Given the description of an element on the screen output the (x, y) to click on. 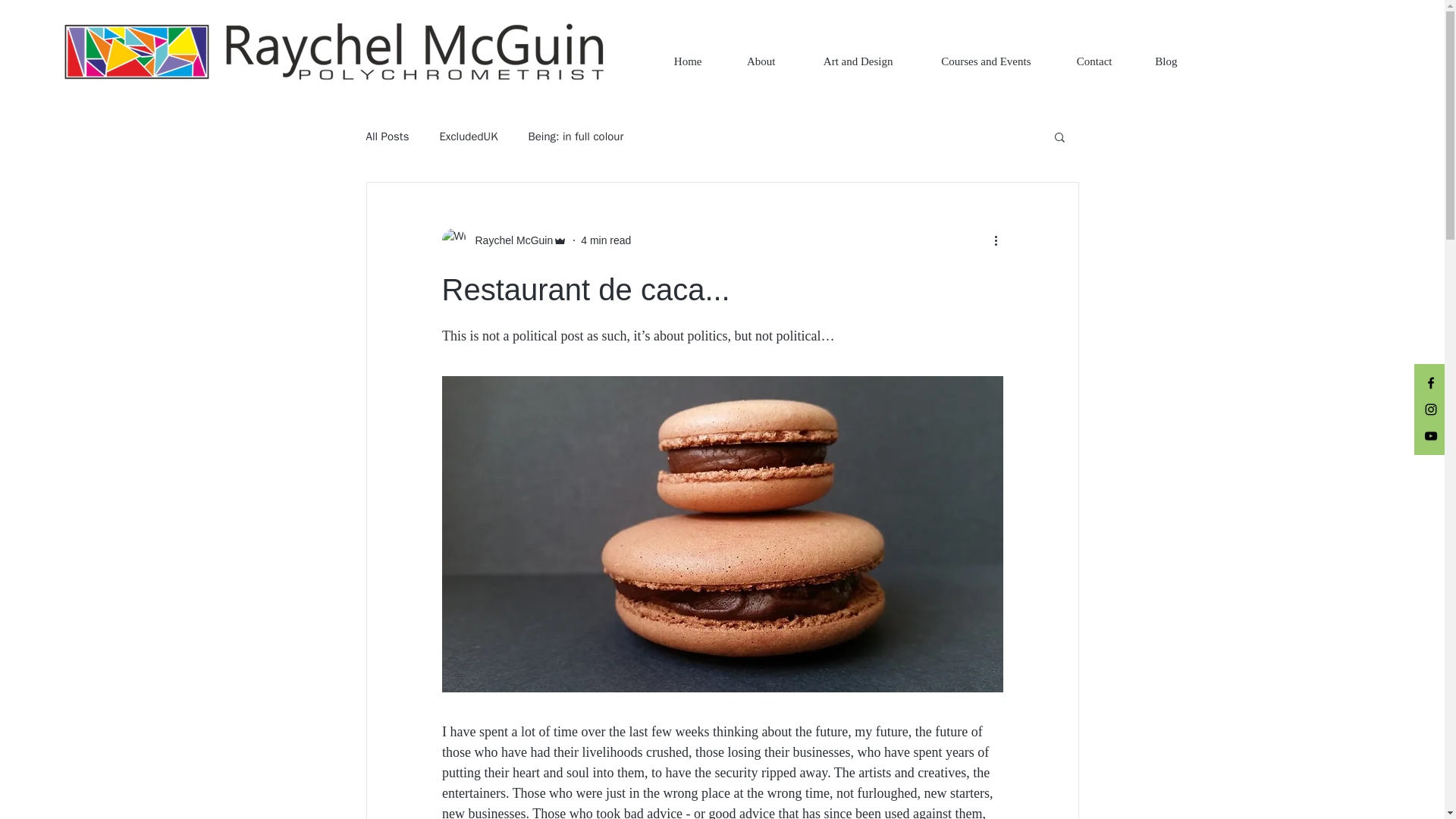
Contact (1082, 61)
Raychel McGuin (504, 240)
Raychel McGuin (509, 239)
Courses and Events (973, 61)
Being: in full colour (575, 135)
ExcludedUK (468, 135)
All Posts (387, 135)
Home (676, 61)
About (749, 61)
Art and Design (845, 61)
Blog (1156, 61)
4 min read (605, 239)
